Given the description of an element on the screen output the (x, y) to click on. 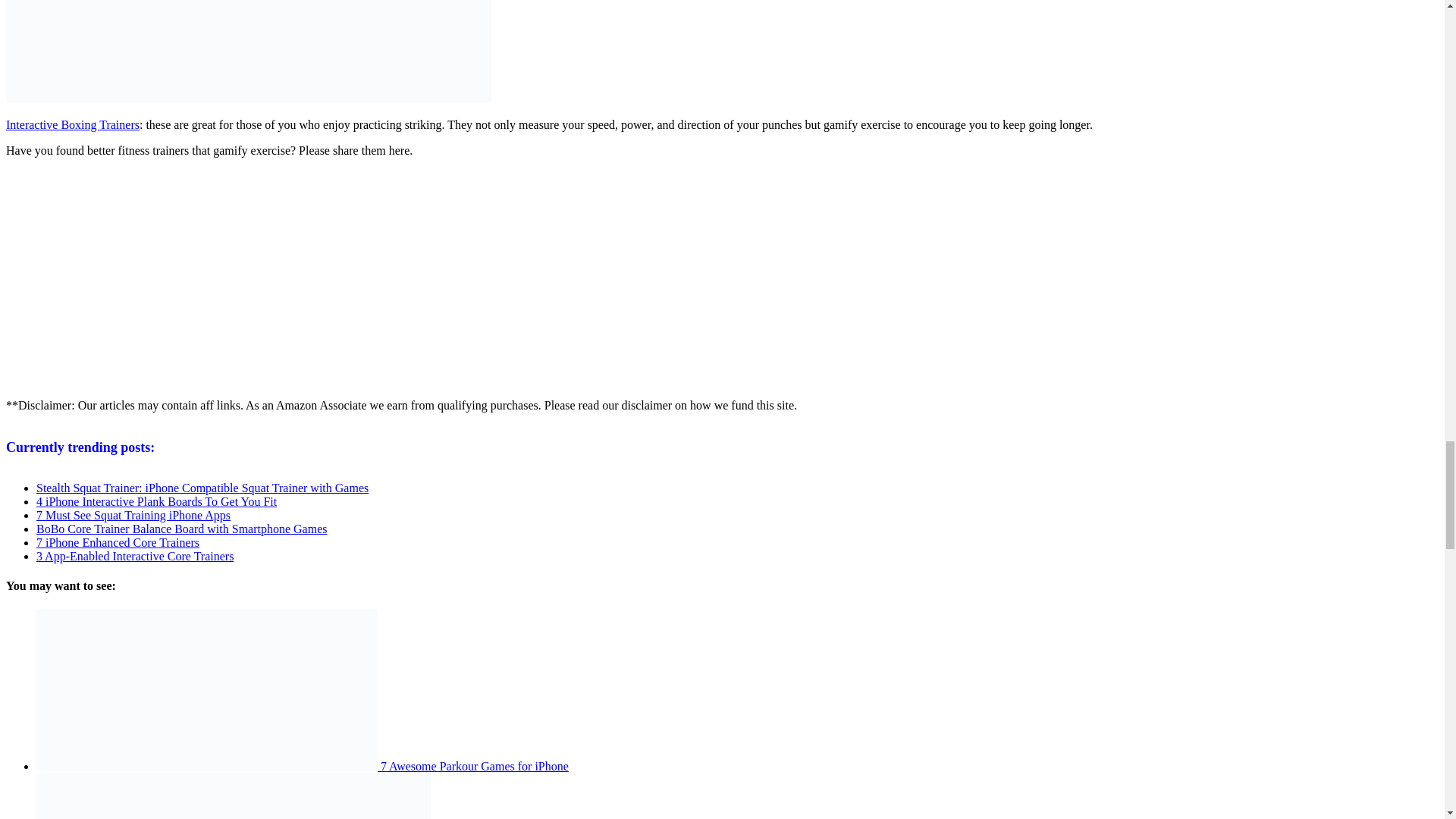
7 iPhone Enhanced Core Trainers (117, 542)
4 iPhone Interactive Plank Boards To Get You Fit (156, 501)
3 App-Enabled Interactive Core Trainers (134, 555)
7 Must See Squat Training iPhone Apps (133, 514)
BoBo Core Trainer Balance Board with Smartphone Games (181, 528)
